Given the description of an element on the screen output the (x, y) to click on. 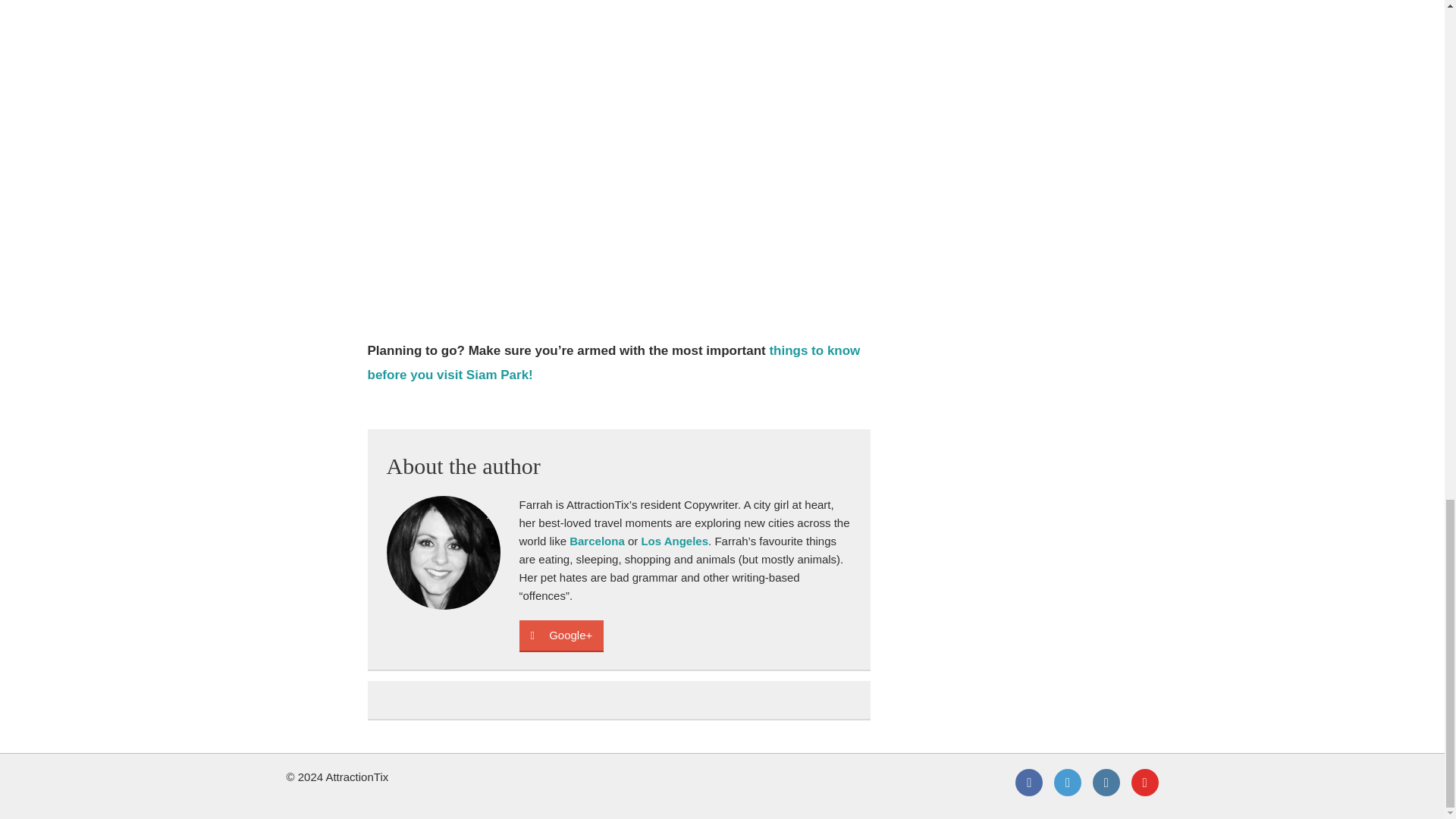
Things to do in Los Angeles (673, 540)
Things to do in Barcelona (596, 540)
